Given the description of an element on the screen output the (x, y) to click on. 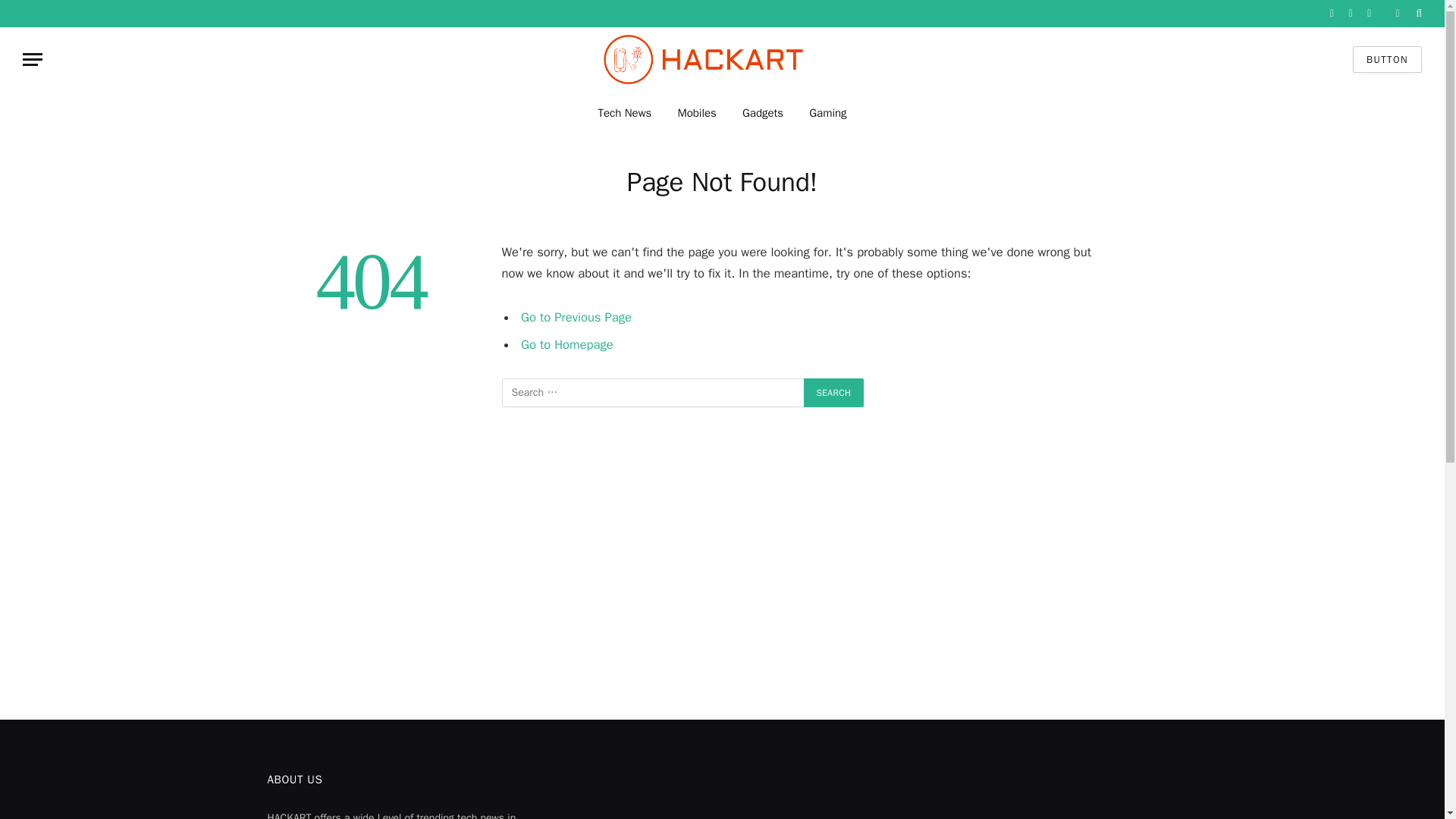
Go to Previous Page (576, 317)
Tech News (624, 112)
Go to Homepage (566, 344)
BUTTON (1387, 58)
Gadgets (762, 112)
Search (833, 392)
Mobiles (696, 112)
Switch to Dark Design - easier on eyes. (1397, 13)
Search (833, 392)
